Given the description of an element on the screen output the (x, y) to click on. 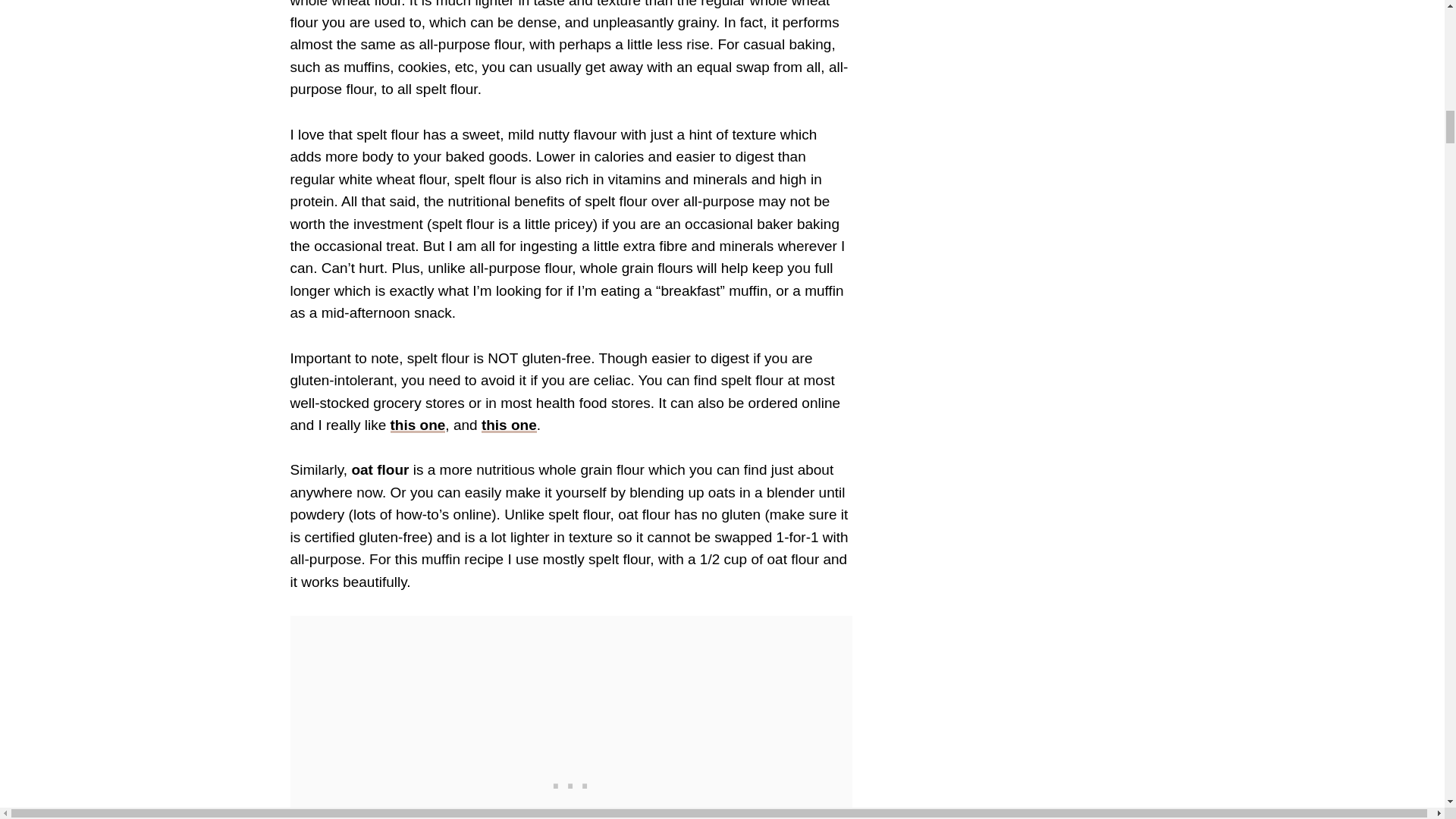
this one (417, 424)
this one (509, 424)
